Given the description of an element on the screen output the (x, y) to click on. 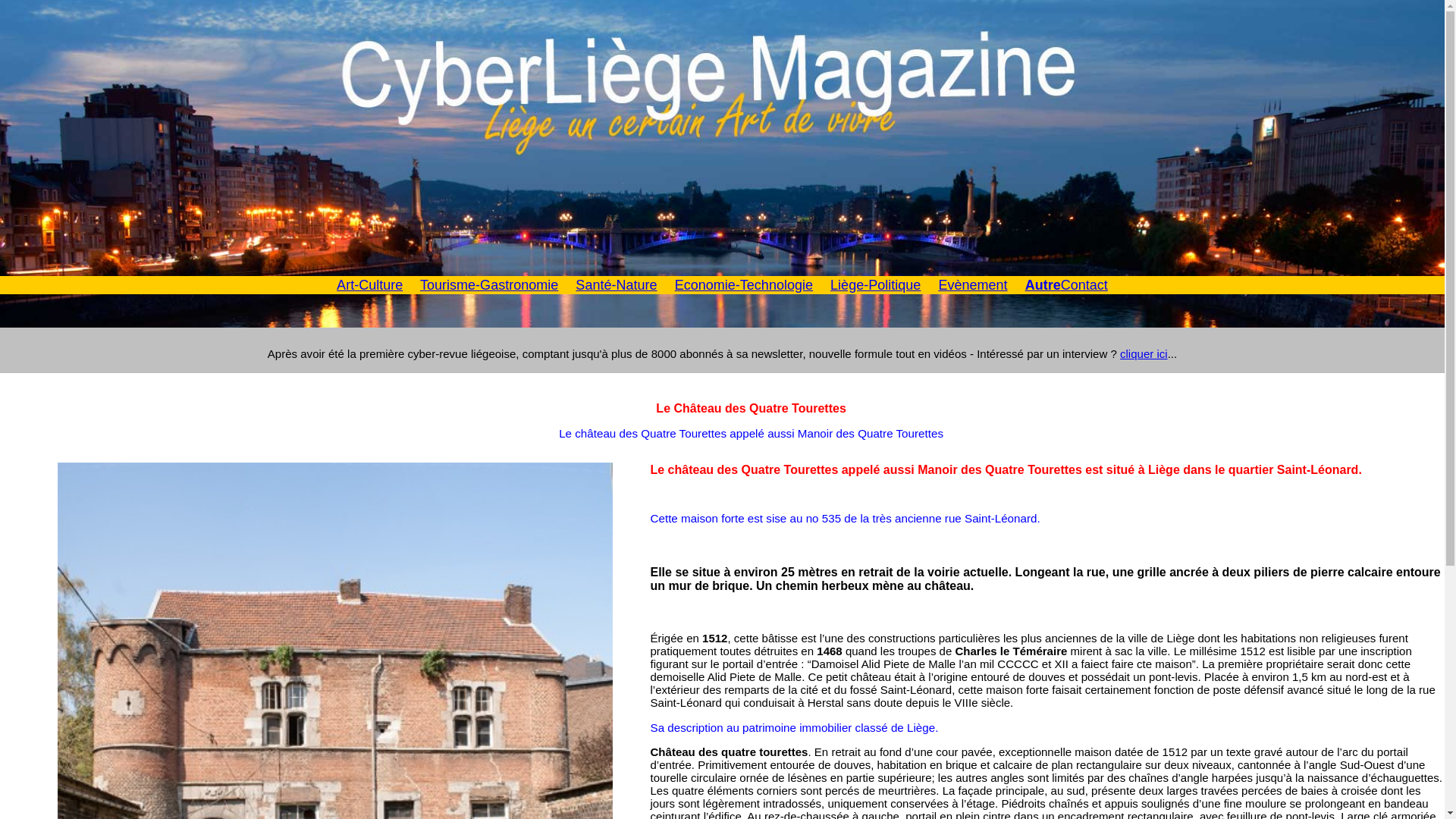
Tourisme-Gastronomie Element type: text (489, 284)
cliquer ici Element type: text (1143, 353)
Contact Element type: text (1083, 284)
Autre Element type: text (1042, 284)
Economie-Technologie Element type: text (743, 284)
Art-Culture Element type: text (369, 284)
